Given the description of an element on the screen output the (x, y) to click on. 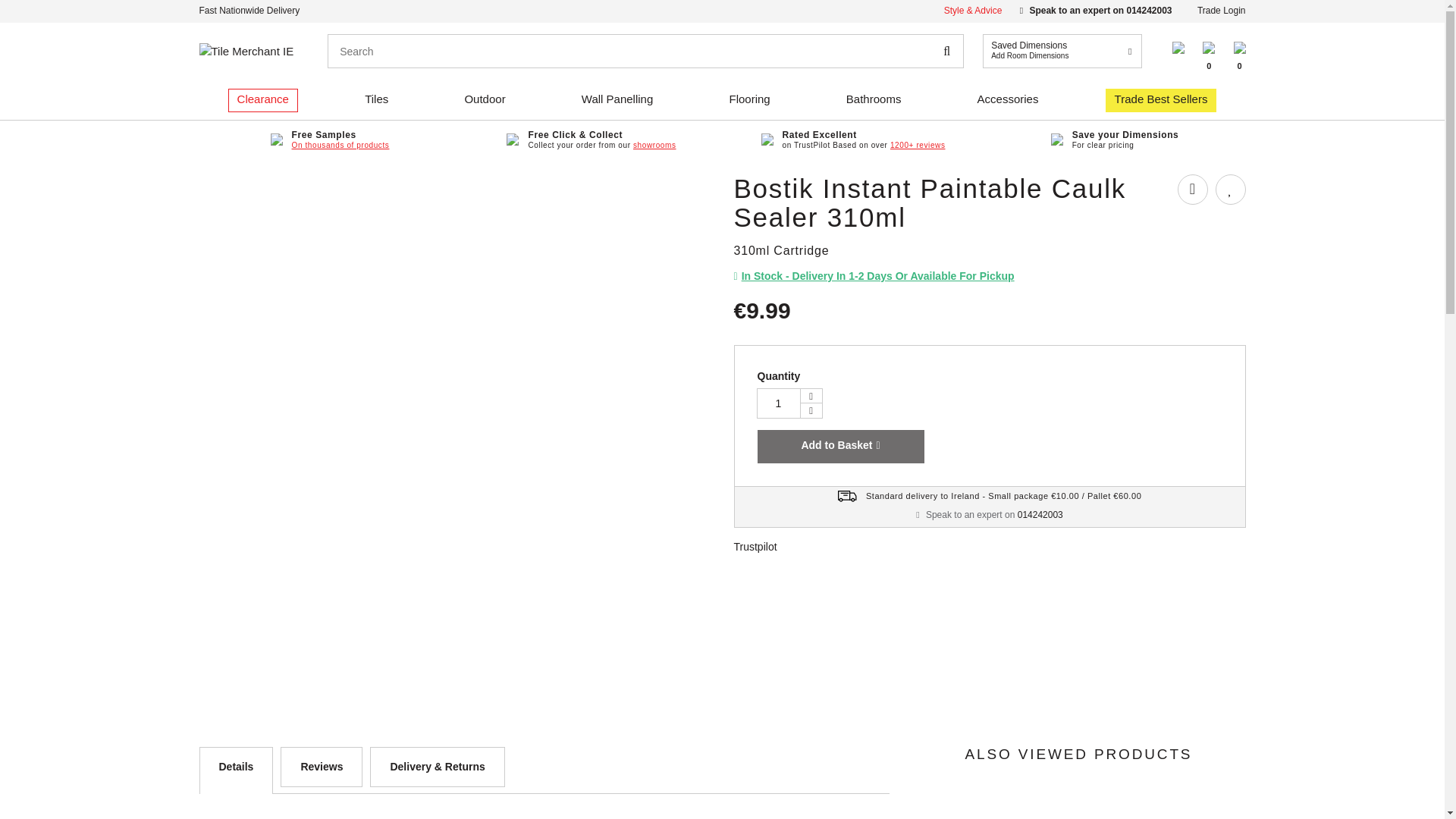
Availability (1061, 50)
Share on WhatsApp (873, 276)
Add to Basket (1191, 189)
Tile Merchant IE (840, 446)
Trade Login (246, 50)
Clearance (1221, 9)
Qty (262, 99)
1 (778, 403)
Tiles (778, 403)
